Given the description of an element on the screen output the (x, y) to click on. 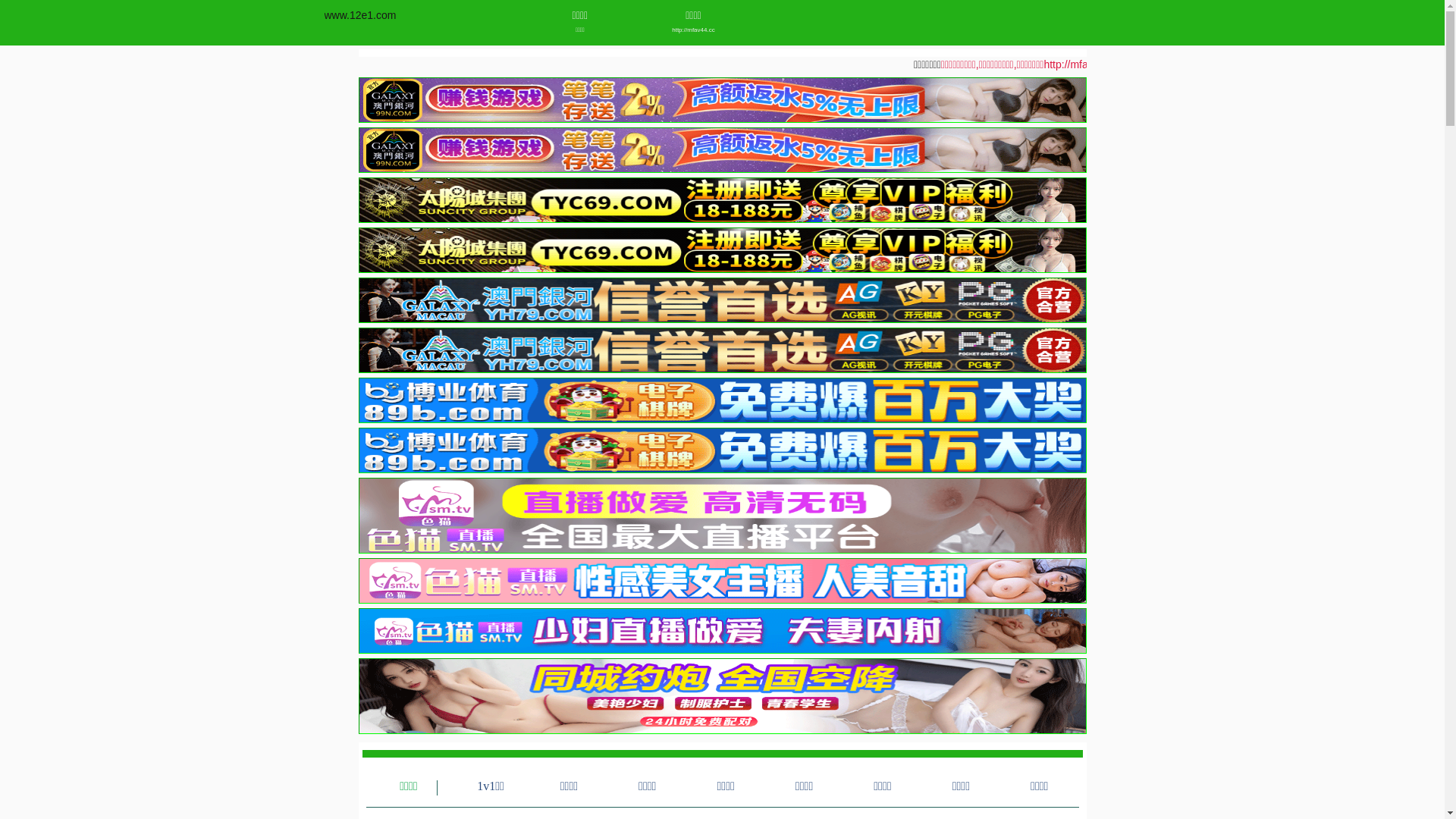
http://mfav44.cc Element type: text (693, 29)
www.12e1.com Element type: text (360, 15)
